Given the description of an element on the screen output the (x, y) to click on. 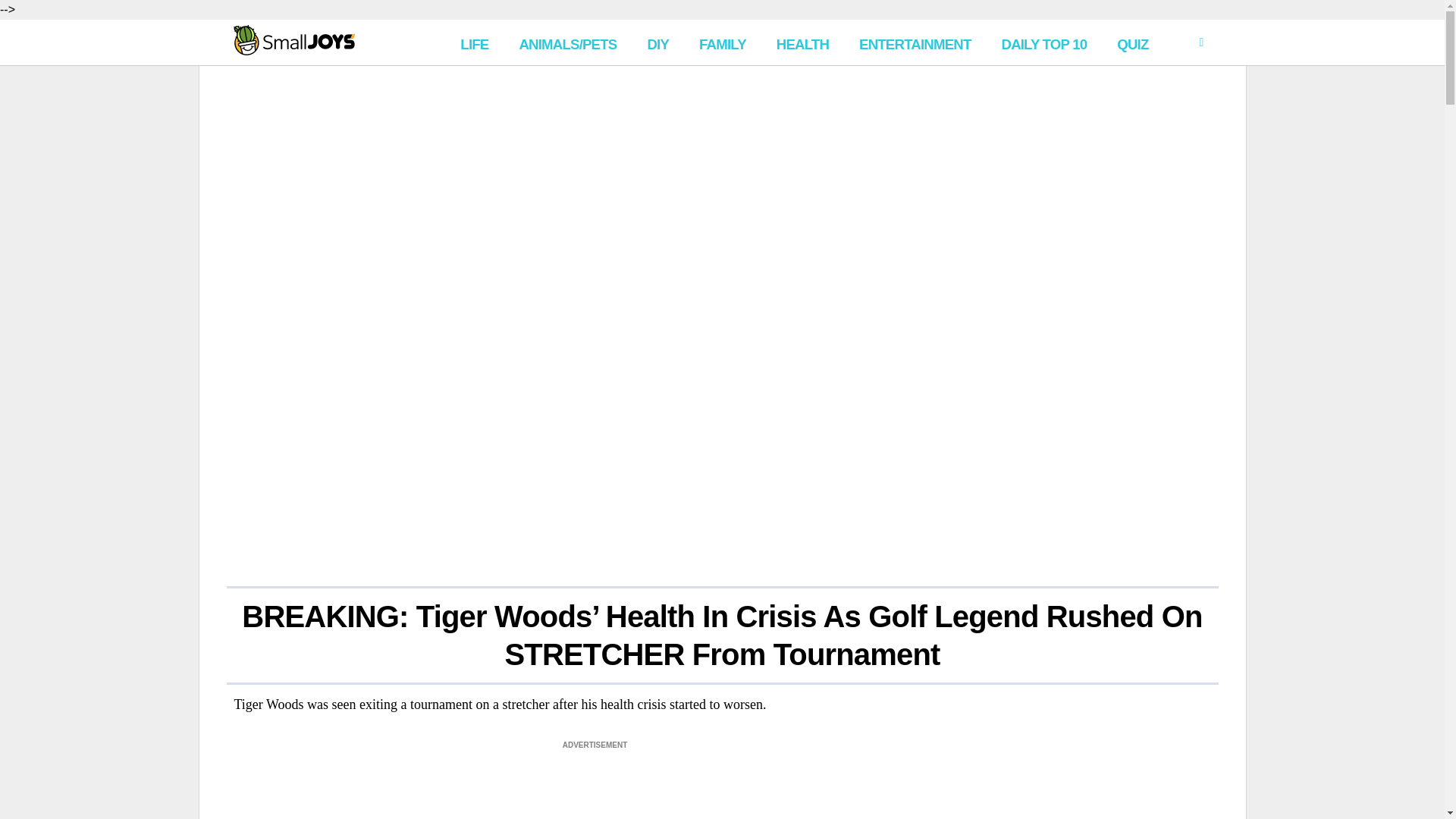
QUIZ (1132, 42)
ENTERTAINMENT (914, 42)
DAILY TOP 10 (1043, 42)
FAMILY (722, 42)
HEALTH (801, 42)
LIFE (474, 42)
